Given the description of an element on the screen output the (x, y) to click on. 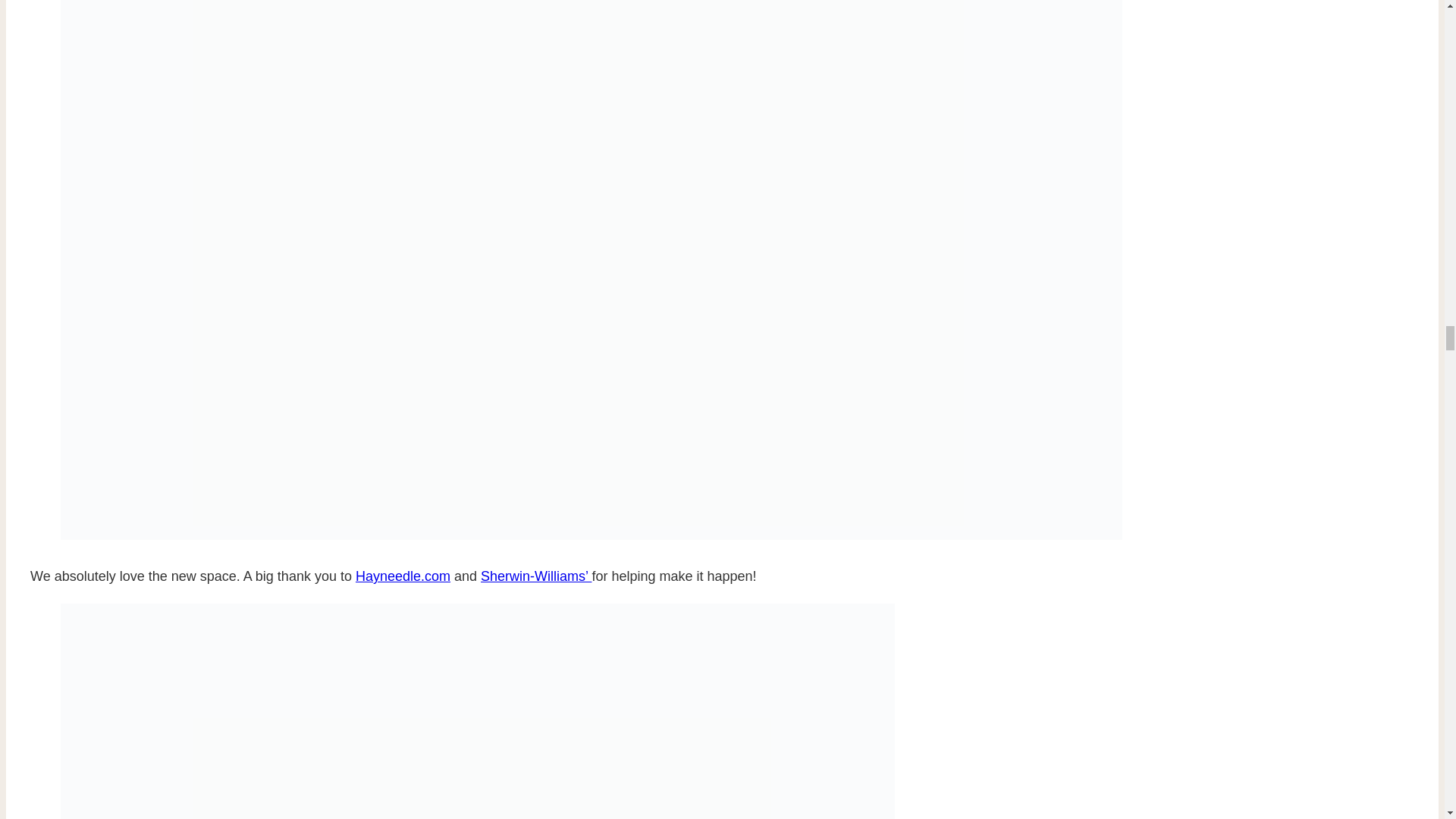
Hayneedle.com (402, 575)
